Given the description of an element on the screen output the (x, y) to click on. 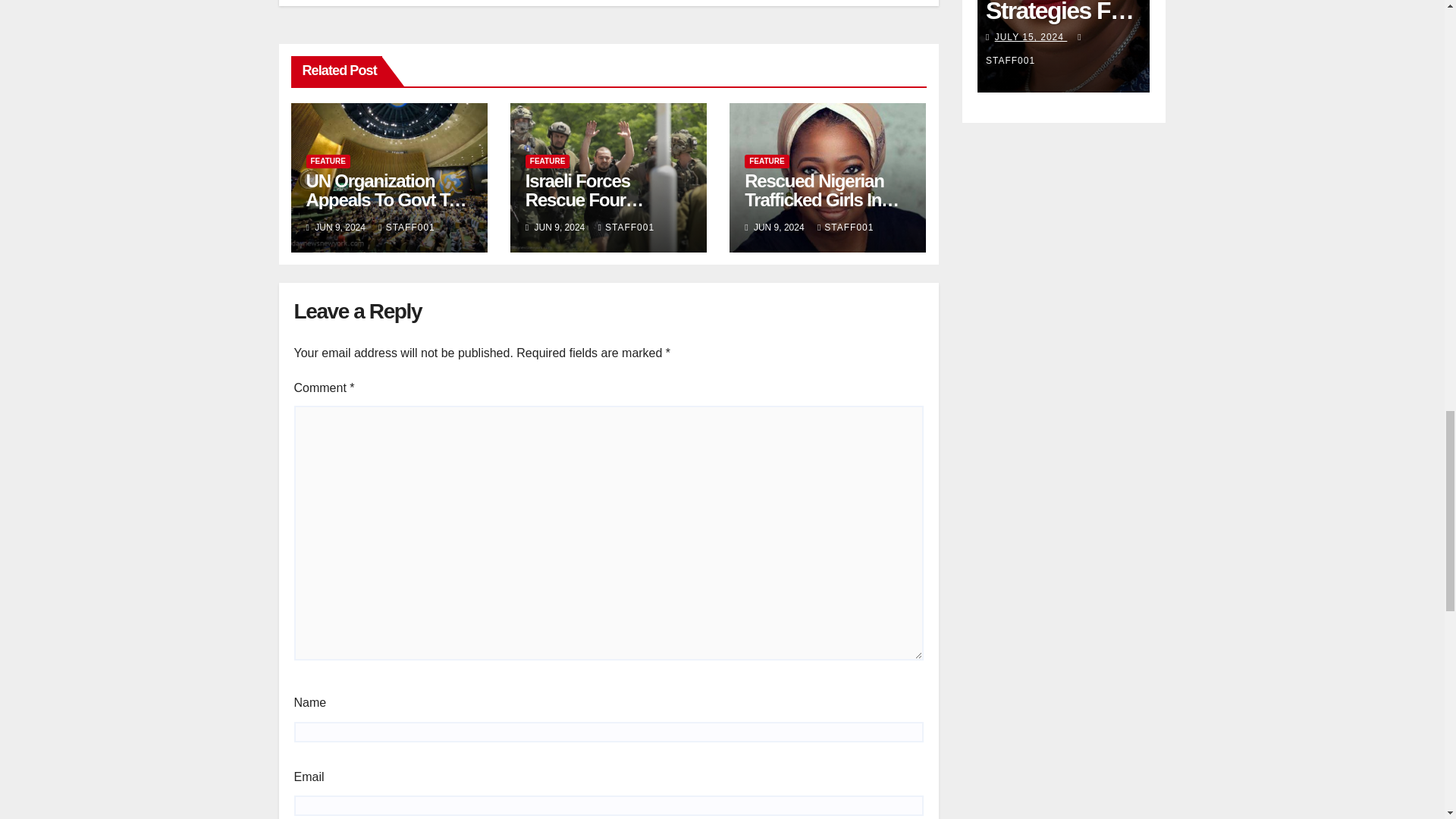
FEATURE (547, 161)
STAFF001 (406, 226)
FEATURE (327, 161)
UN Organization Appeals To Govt To Drive Education Forward (386, 209)
Israeli Forces Rescue Four Hostages Following Heavy Gunfire (603, 209)
